Given the description of an element on the screen output the (x, y) to click on. 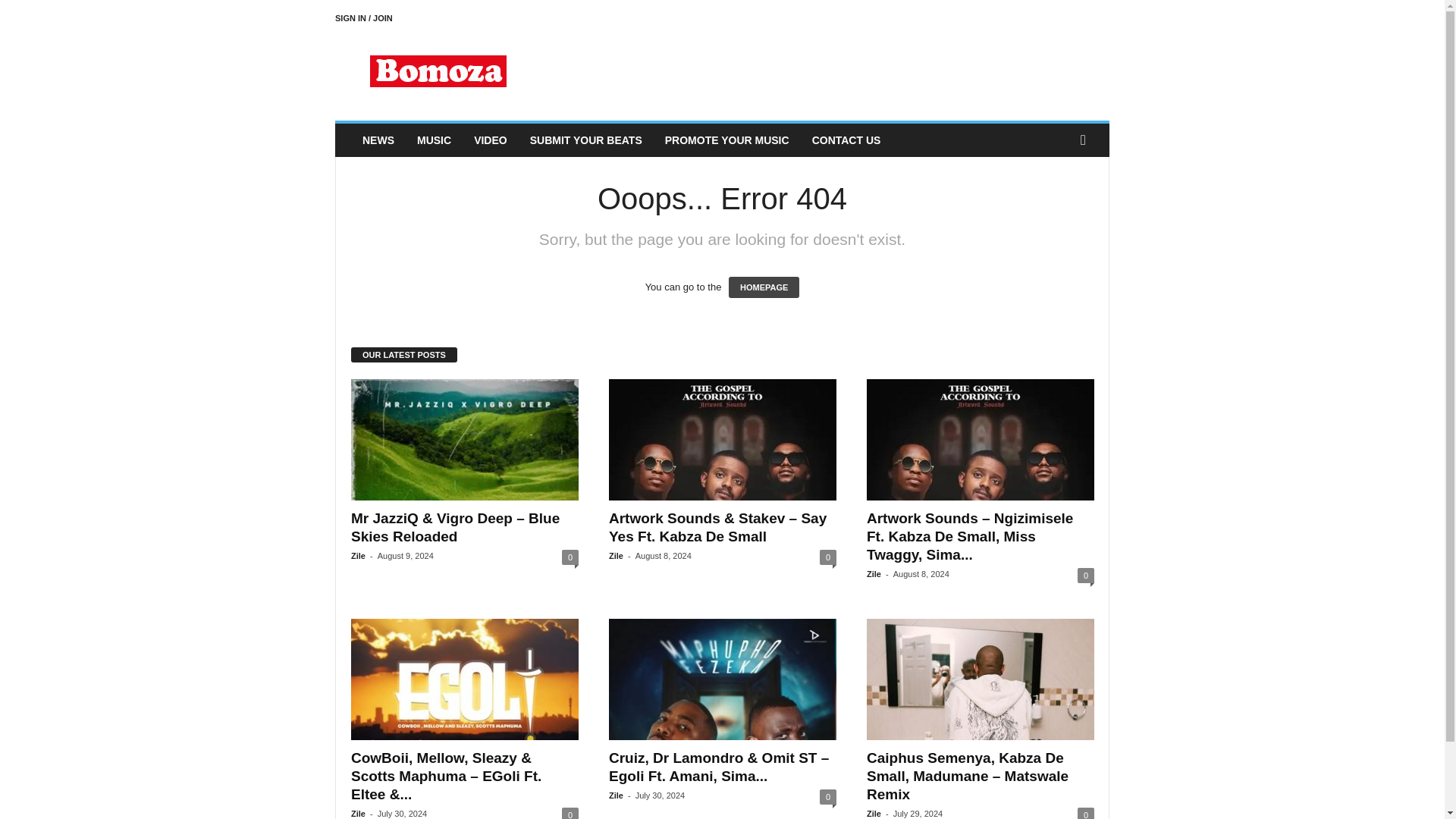
Zile (873, 573)
0 (570, 813)
0 (570, 557)
MUSIC (434, 140)
VIDEO (490, 140)
HOMEPAGE (764, 287)
0 (827, 557)
NEWS (378, 140)
Zile (357, 813)
Zile (615, 555)
